Given the description of an element on the screen output the (x, y) to click on. 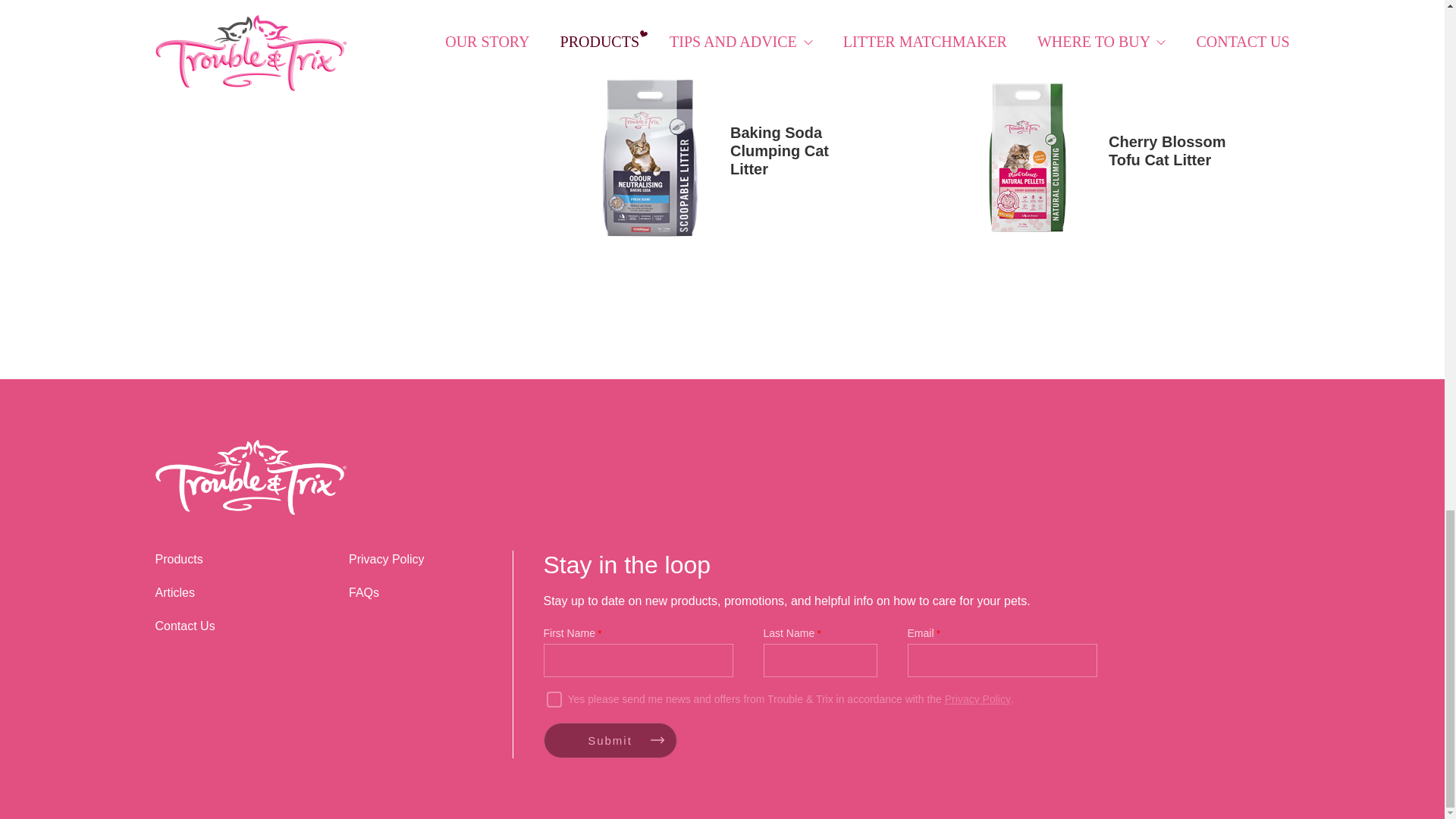
Submit (610, 740)
Products (178, 558)
Products (178, 558)
Contact Us (184, 625)
Last Name (819, 660)
Cherry Blossom Tofu Cat Litter (1100, 158)
Trouble And Trix (250, 479)
Articles (173, 592)
Baking Soda Clumping Cat Litter (722, 158)
FAQs (363, 592)
Cherry Blossom Tofu Cat Litter (1100, 158)
Email (1001, 660)
Contact Us (184, 625)
First Name (637, 660)
FAQs (363, 592)
